Given the description of an element on the screen output the (x, y) to click on. 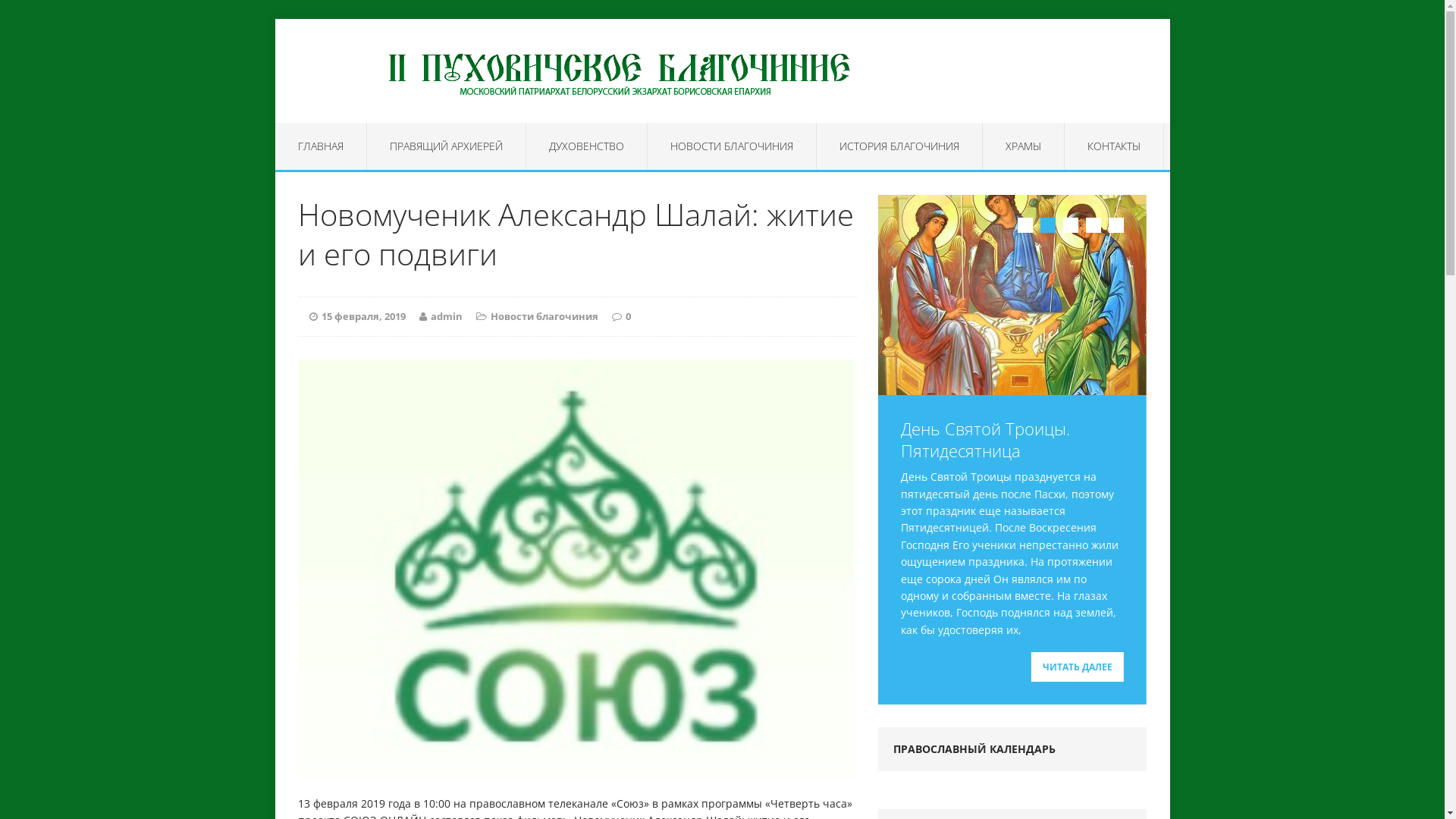
0 Element type: text (627, 316)
1 Element type: text (1024, 224)
5 Element type: text (1115, 224)
3 Element type: text (1070, 224)
admin Element type: text (446, 316)
4 Element type: text (1093, 224)
2 Element type: text (1047, 224)
